Given the description of an element on the screen output the (x, y) to click on. 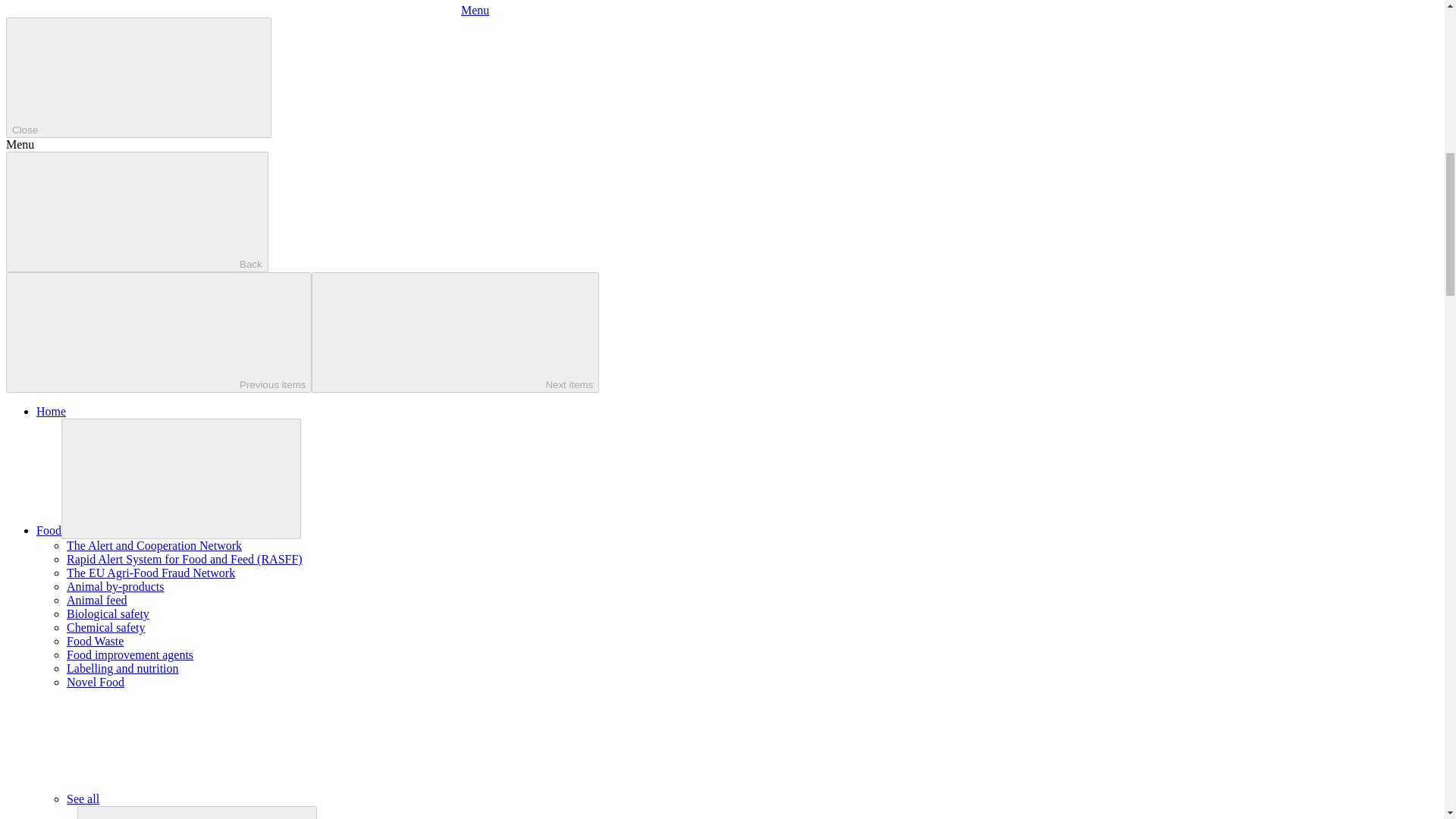
Animal feed (97, 599)
Biological safety (107, 613)
The Alert and Cooperation Network (153, 545)
Chemical safety (105, 626)
Previous items (158, 332)
Food improvement agents (129, 654)
Food Waste (94, 640)
Animal by-products (114, 585)
Next items (454, 332)
Home (50, 410)
Back (136, 211)
Menu (247, 10)
Close (137, 77)
The EU Agri-Food Fraud Network (150, 572)
Food (48, 530)
